Given the description of an element on the screen output the (x, y) to click on. 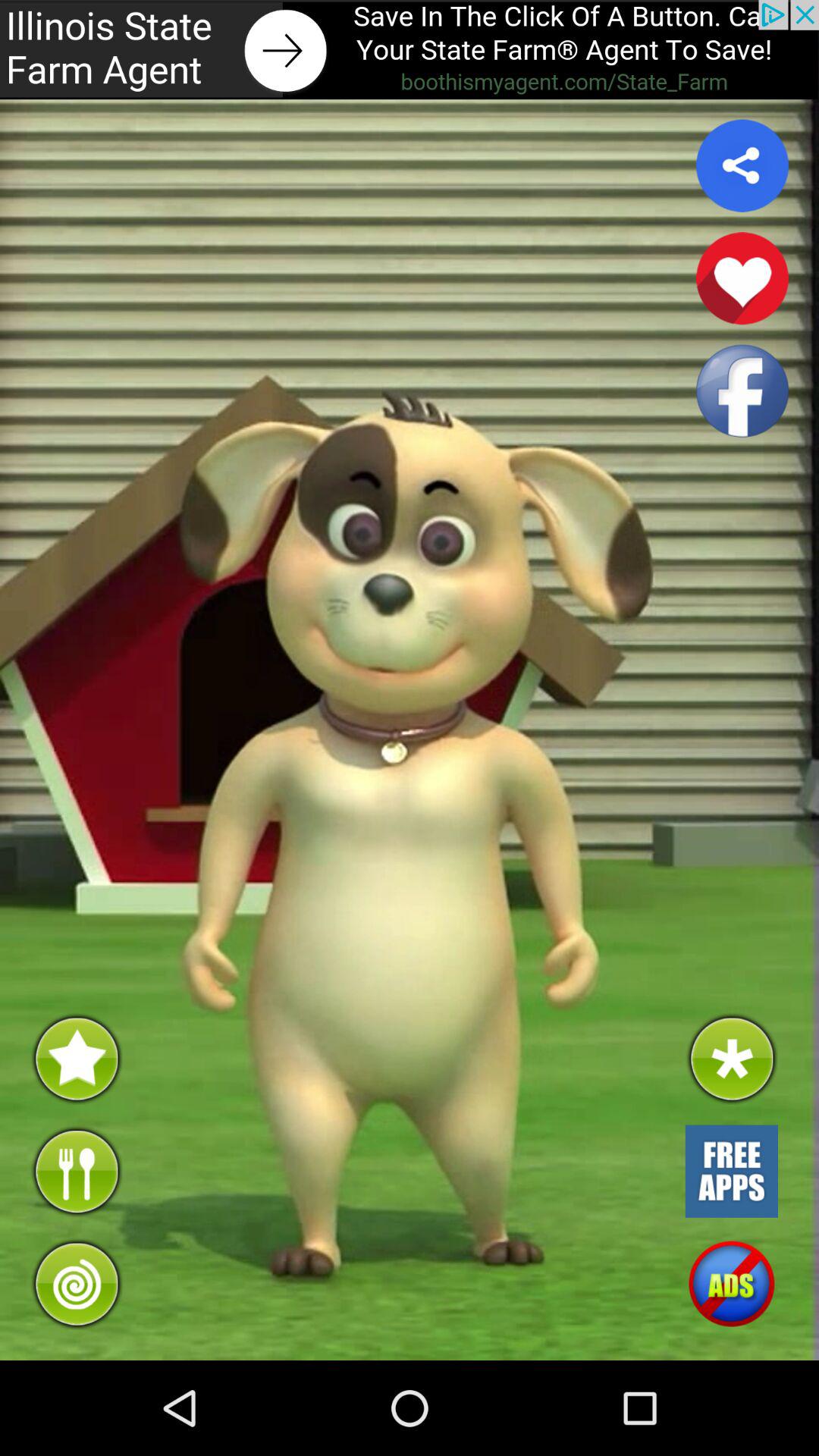
hide advertisements (731, 1283)
